Given the description of an element on the screen output the (x, y) to click on. 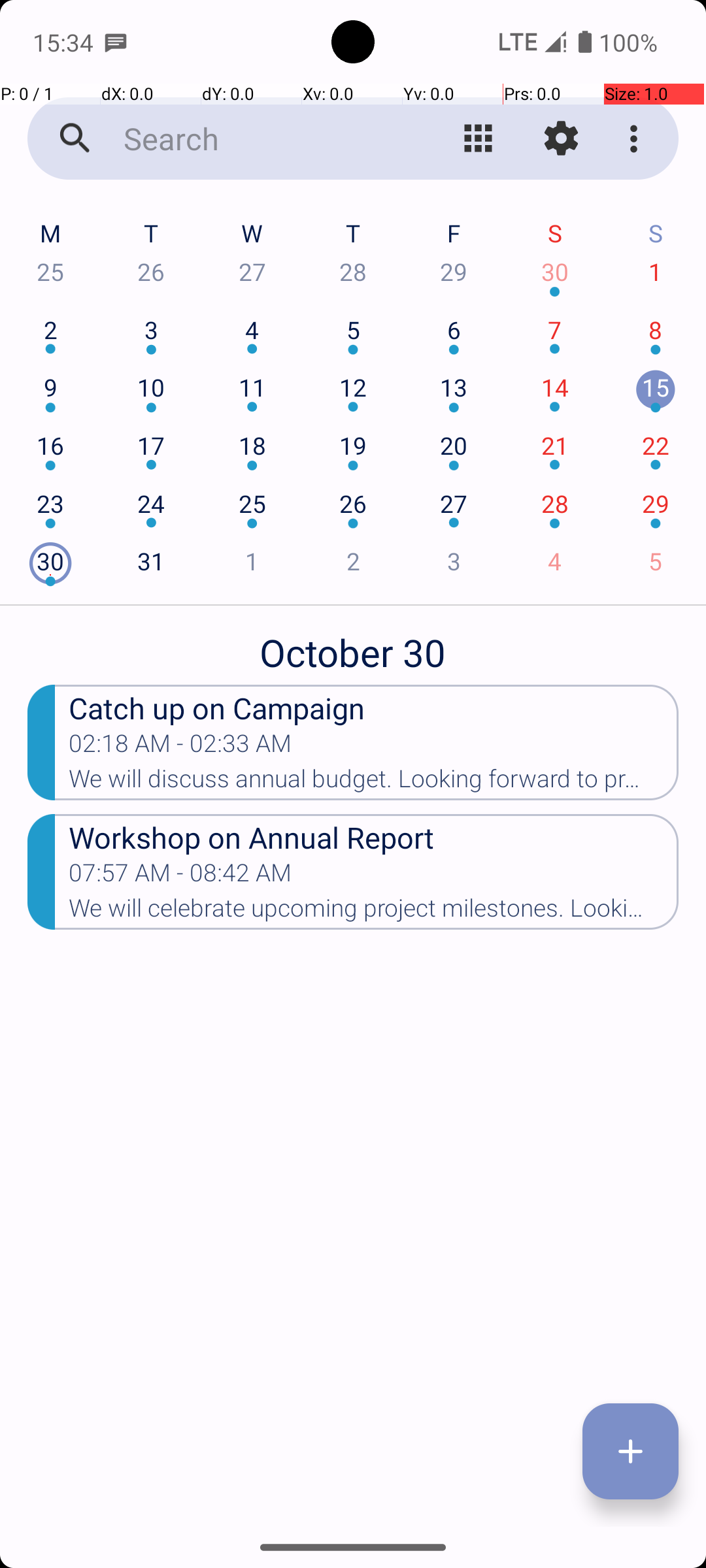
October 30 Element type: android.widget.TextView (352, 644)
02:18 AM - 02:33 AM Element type: android.widget.TextView (254, 747)
We will discuss annual budget. Looking forward to productive discussions. Element type: android.widget.TextView (373, 782)
07:57 AM - 08:42 AM Element type: android.widget.TextView (179, 876)
We will celebrate upcoming project milestones. Looking forward to productive discussions. Element type: android.widget.TextView (373, 911)
